Given the description of an element on the screen output the (x, y) to click on. 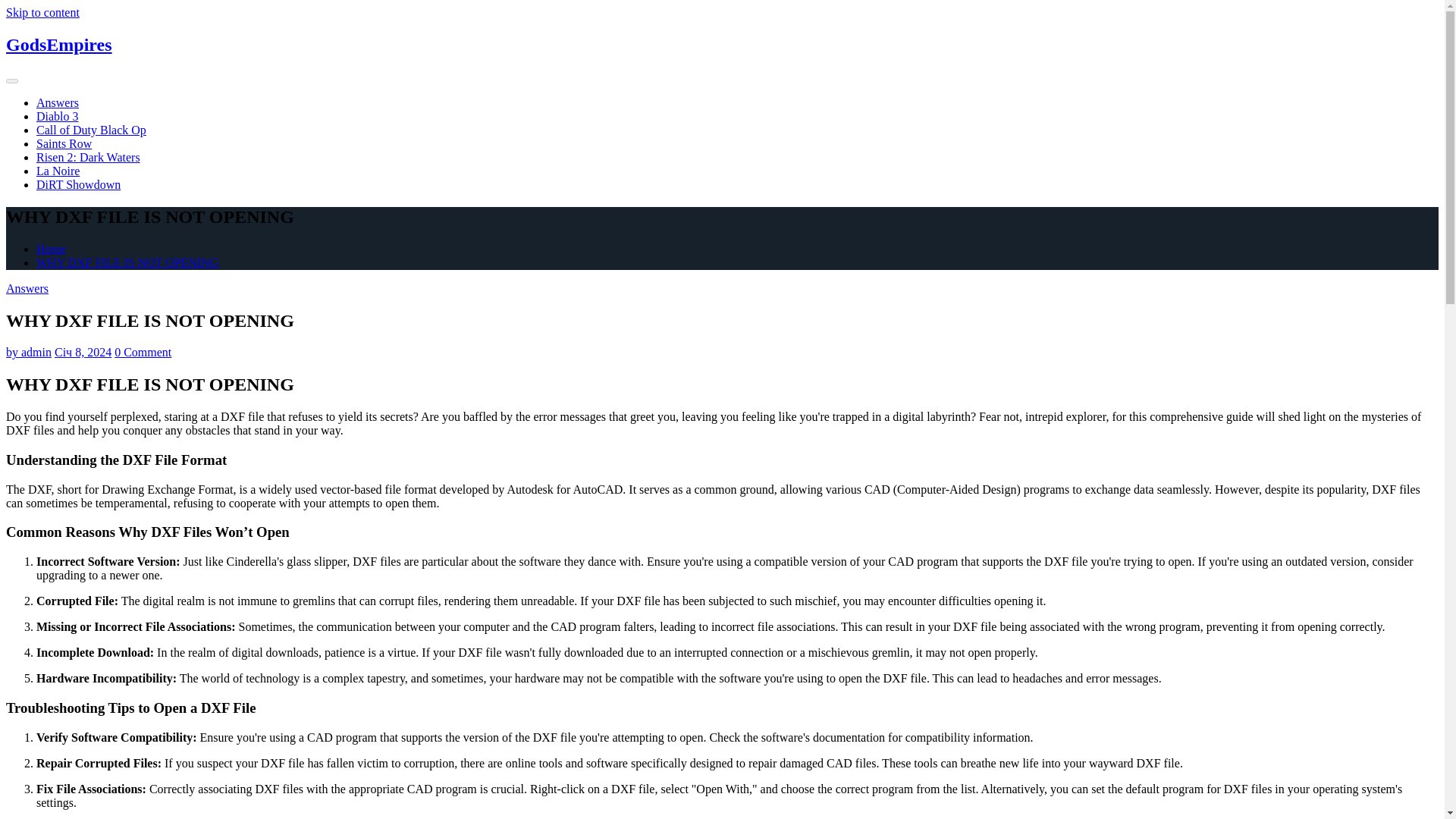
WHY DXF FILE IS NOT OPENING (127, 262)
Saints Row (63, 143)
Answers (57, 102)
Skip to content (42, 11)
Diablo 3 (57, 115)
DiRT Showdown (78, 184)
by admin (27, 351)
0 Comment (143, 351)
GodsEmpires (58, 44)
Risen 2: Dark Waters (87, 156)
